Given the description of an element on the screen output the (x, y) to click on. 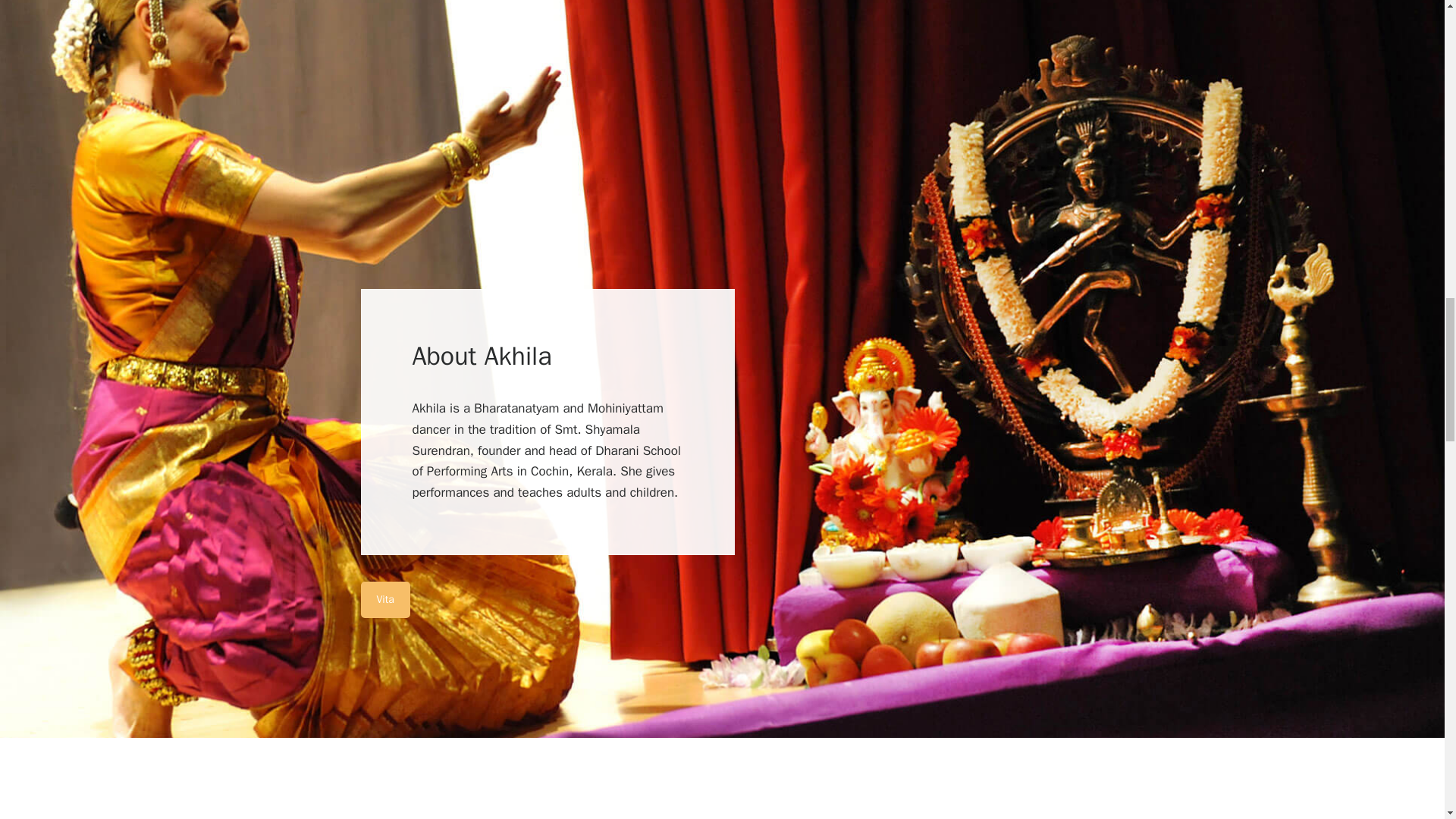
Vita (385, 599)
Werdegang von Sandra Eschenbach (385, 599)
